Given the description of an element on the screen output the (x, y) to click on. 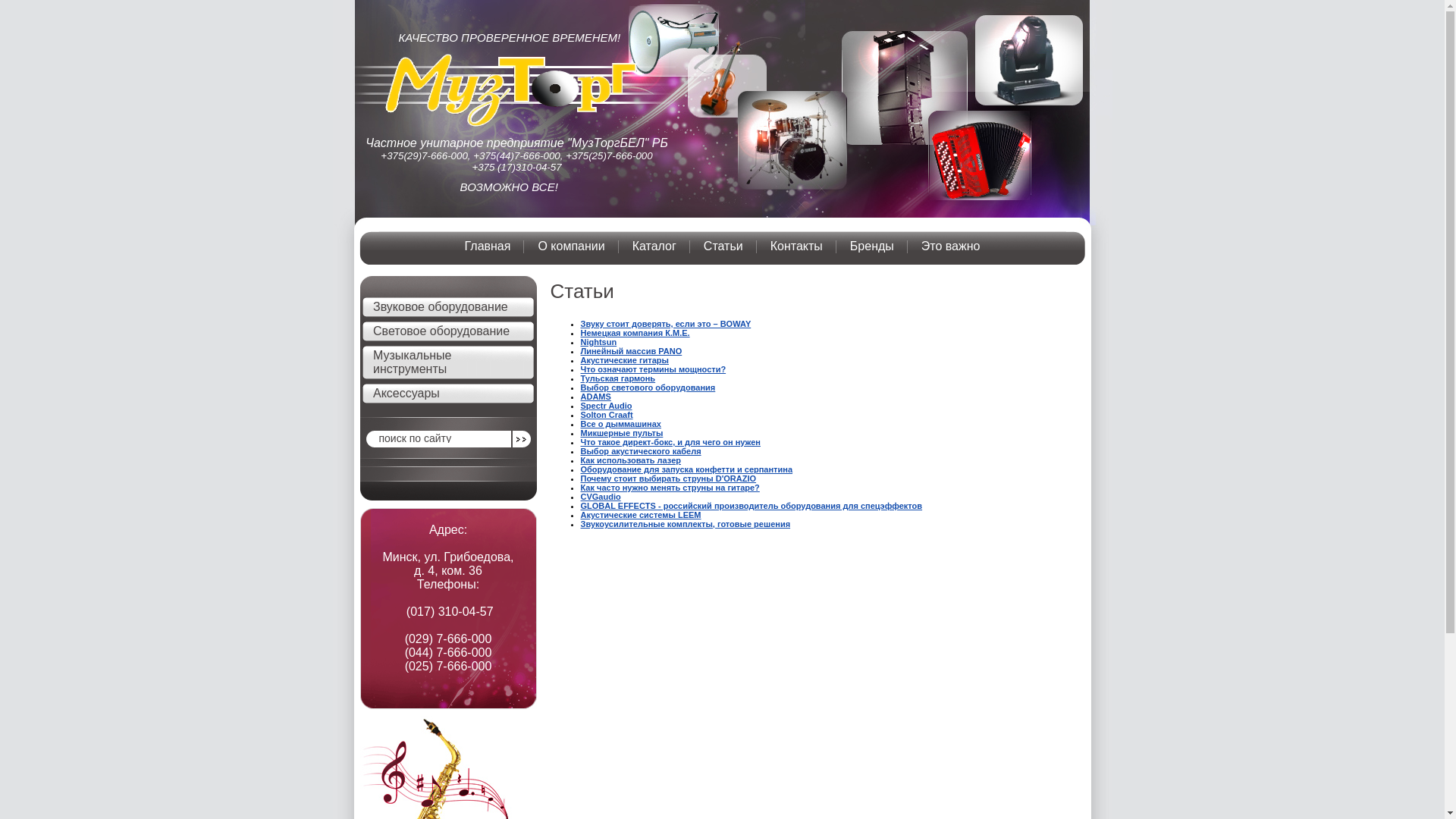
ADAMS Element type: text (595, 396)
Nightsun Element type: text (598, 341)
Solton Craaft Element type: text (606, 414)
CVGaudio Element type: text (600, 496)
Spectr Audio Element type: text (606, 405)
